Given the description of an element on the screen output the (x, y) to click on. 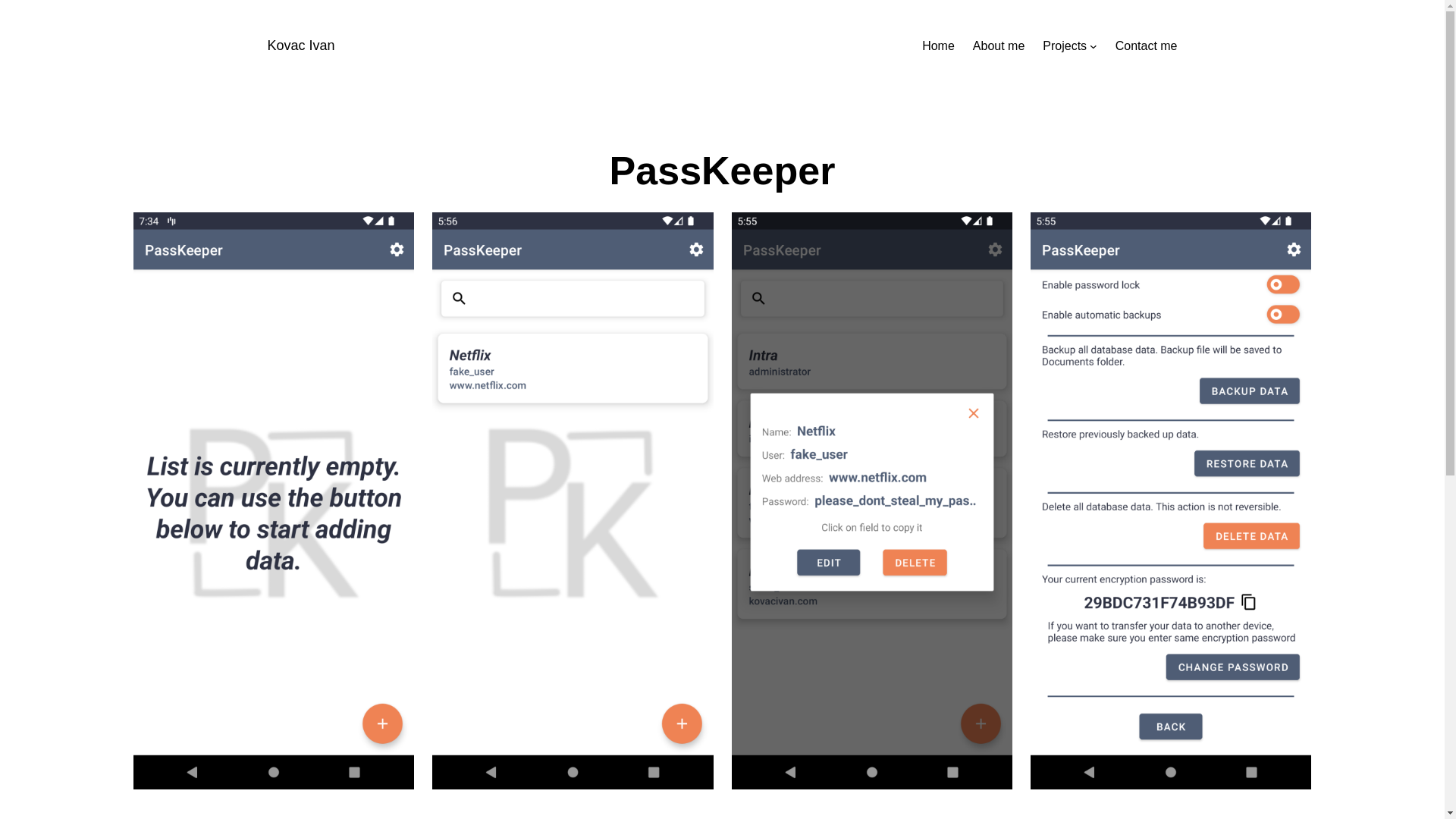
Contact me (1146, 46)
Projects (1064, 46)
Home (938, 46)
About me (998, 46)
Kovac Ivan (300, 45)
